Given the description of an element on the screen output the (x, y) to click on. 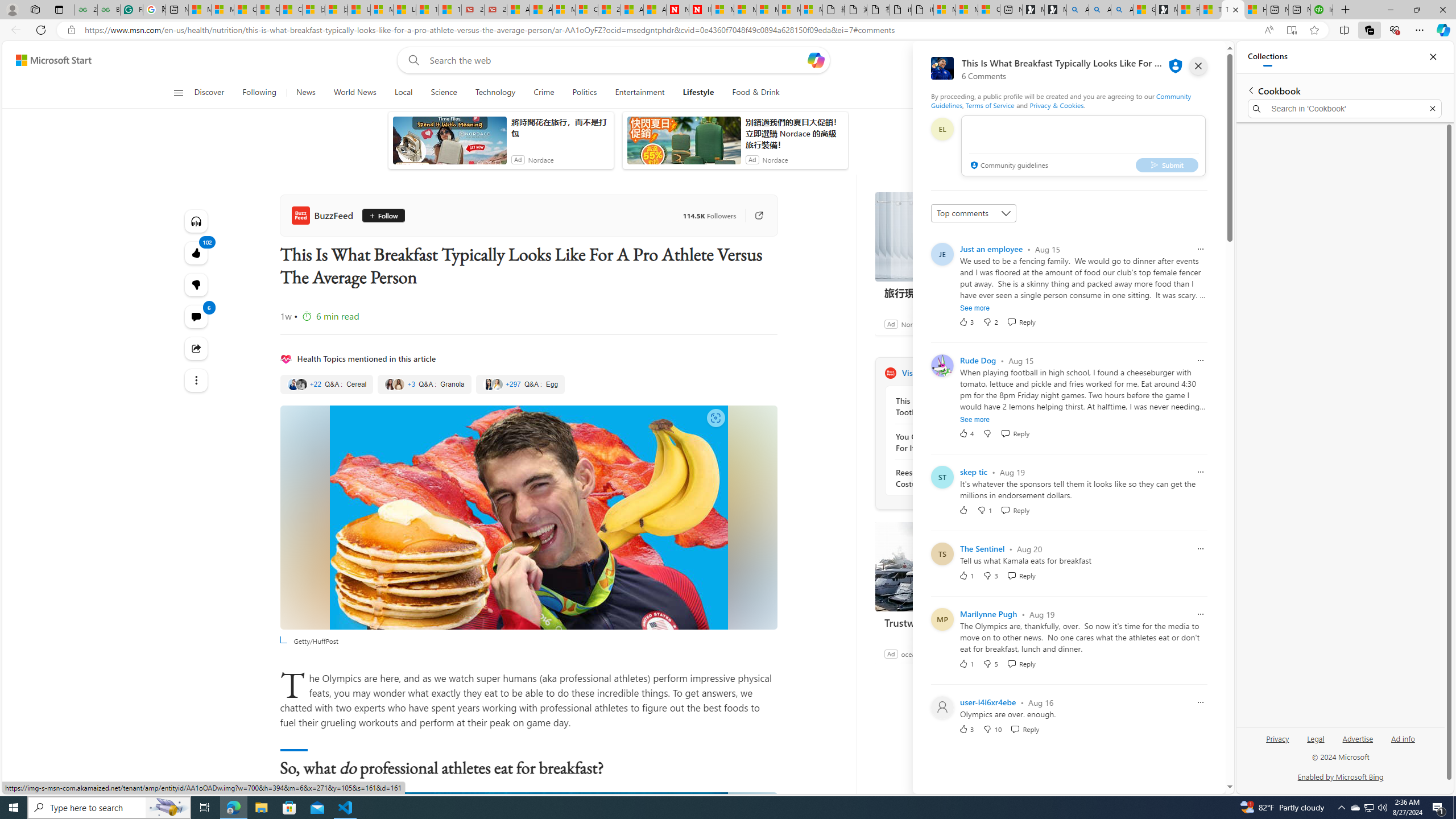
Alabama high school quarterback dies - Search Videos (1122, 9)
Submit (1166, 164)
Visit BuzzFeed website (1031, 372)
